Given the description of an element on the screen output the (x, y) to click on. 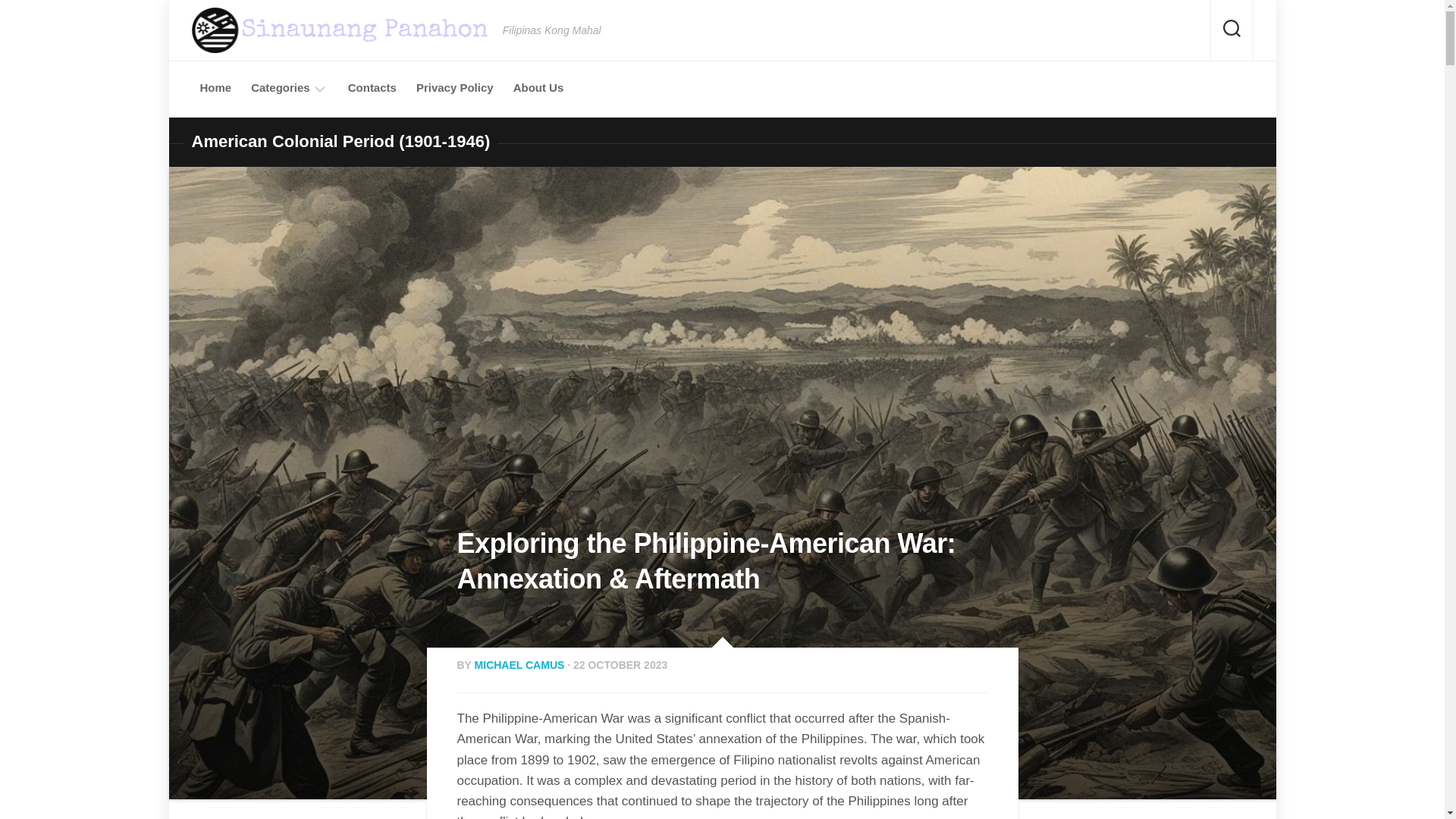
Posts by Michael Camus (519, 664)
Home (215, 87)
MICHAEL CAMUS (519, 664)
Privacy Policy (454, 87)
About Us (538, 87)
Categories (280, 87)
Contacts (371, 87)
